Given the description of an element on the screen output the (x, y) to click on. 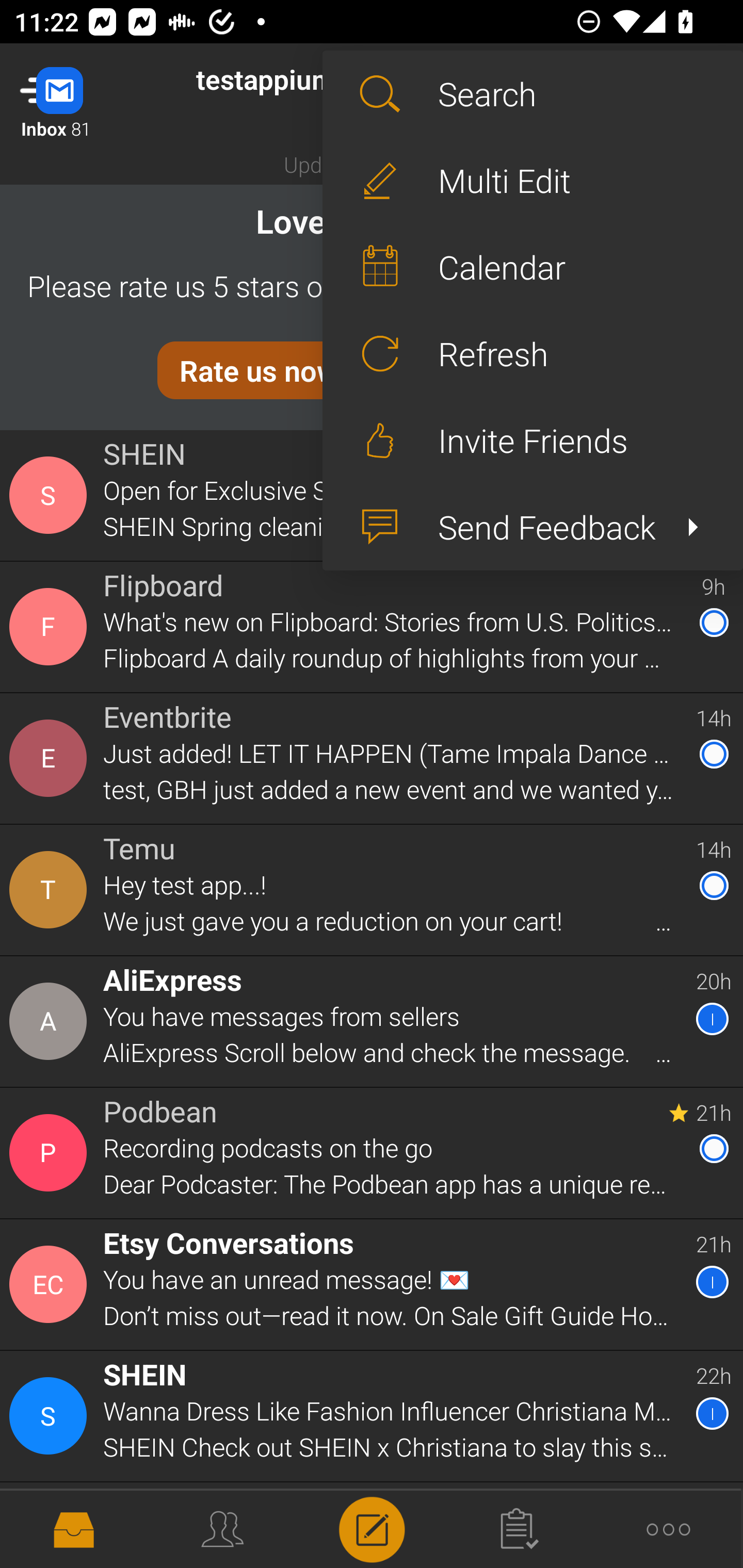
Search (532, 93)
Multi Edit (532, 180)
Calendar (532, 267)
Refresh (532, 353)
Invite Friends (532, 440)
Send Feedback (532, 527)
